Given the description of an element on the screen output the (x, y) to click on. 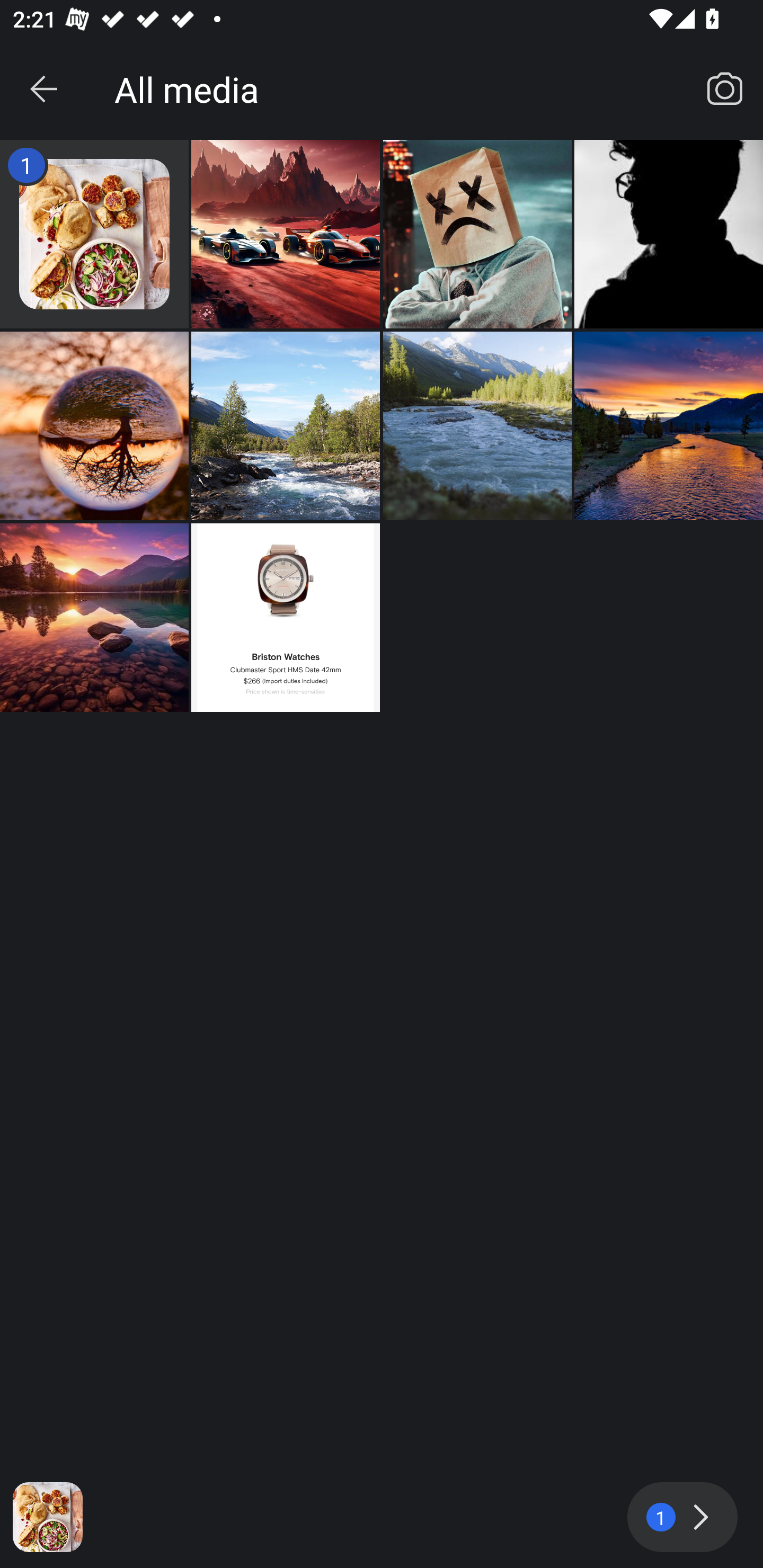
1 (682, 1516)
